Given the description of an element on the screen output the (x, y) to click on. 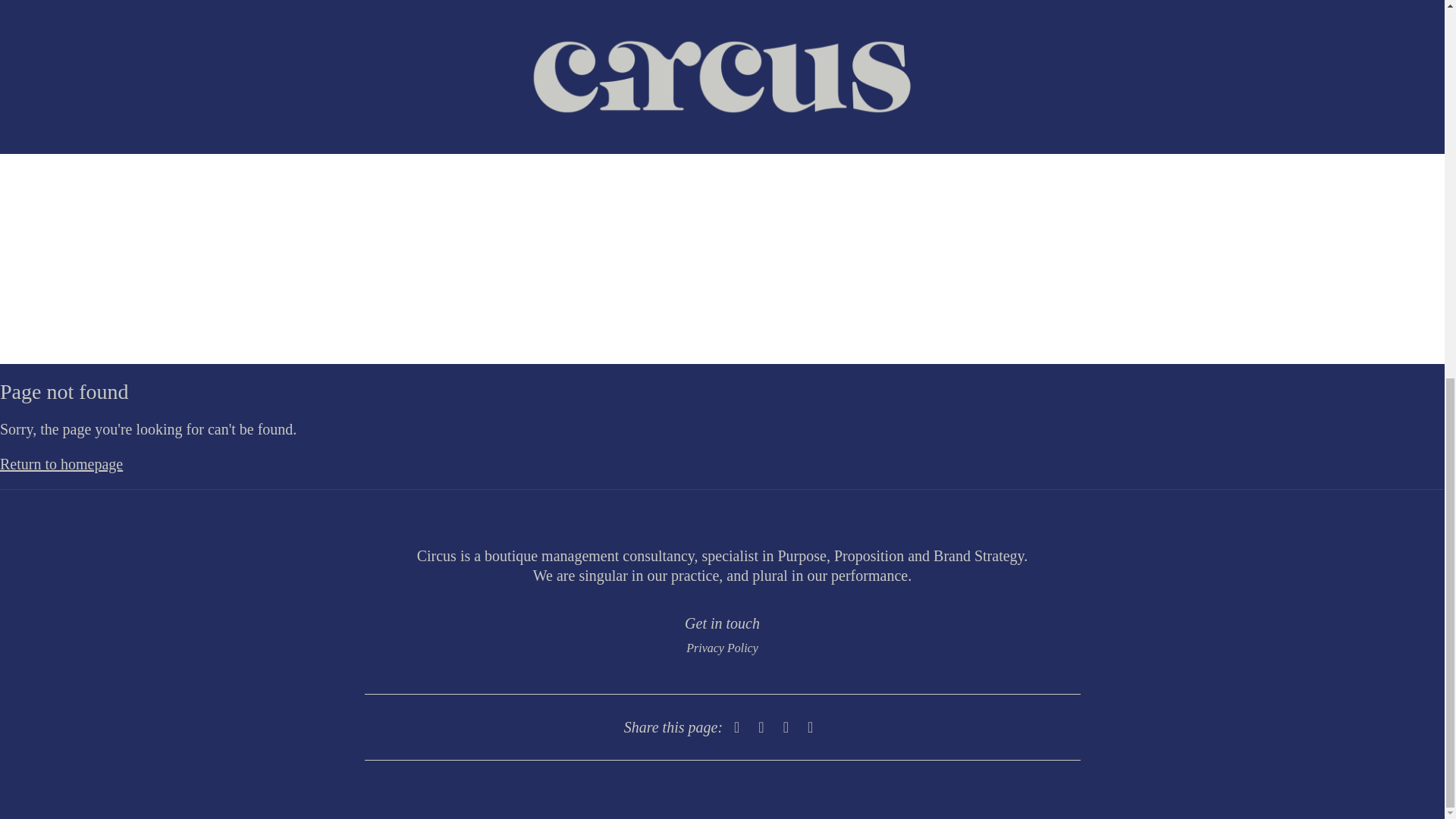
Privacy Policy (721, 647)
Return to homepage (61, 463)
Get in touch (722, 623)
Homepage (61, 463)
